Given the description of an element on the screen output the (x, y) to click on. 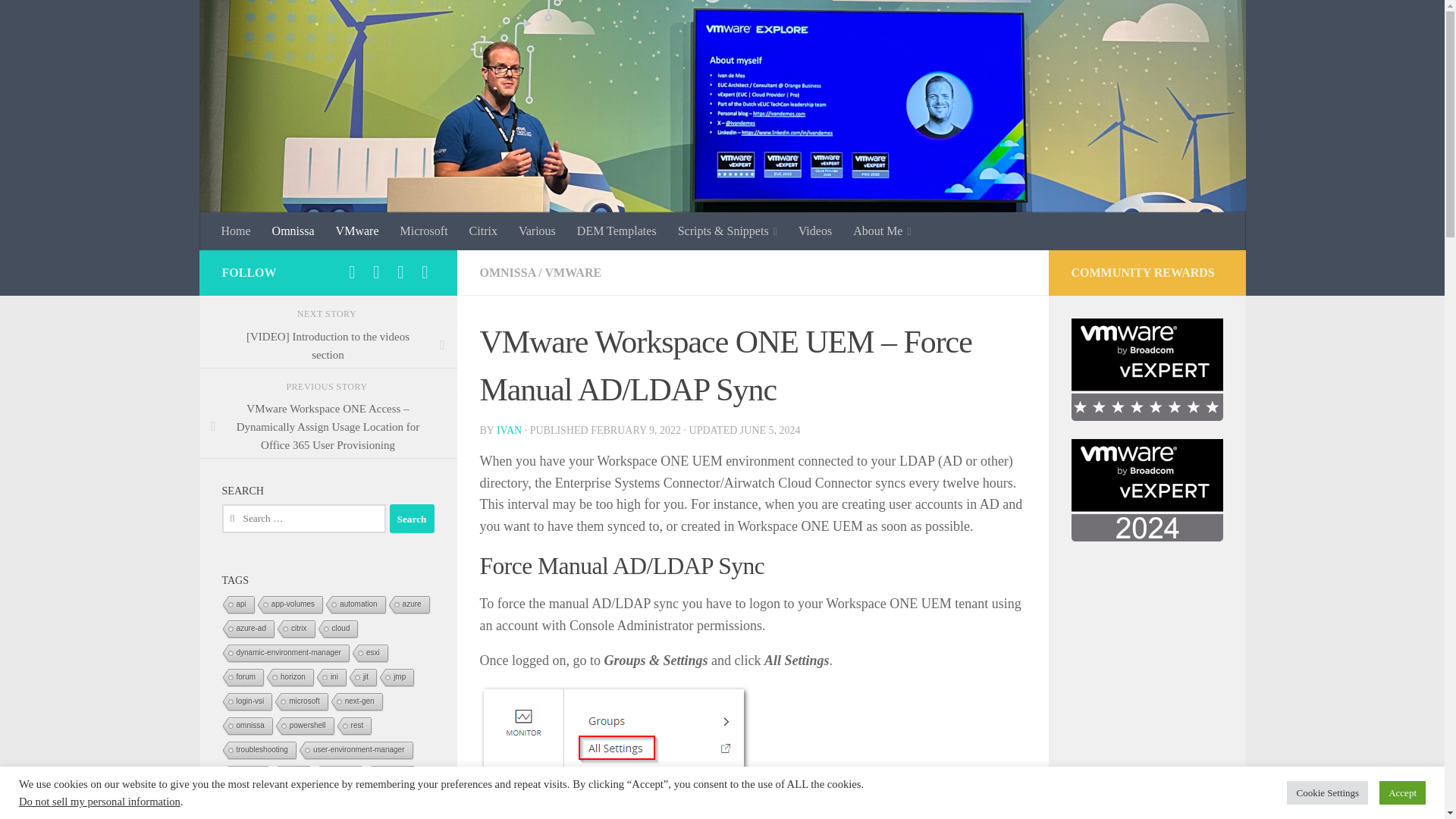
VMware (357, 231)
Search (411, 518)
About Me (882, 231)
Microsoft (423, 231)
OMNISSA (507, 272)
Videos (815, 231)
Posts by Ivan (508, 430)
Search (411, 518)
IVAN (508, 430)
Various (537, 231)
DEM Templates (616, 231)
Skip to content (59, 20)
VMWARE (572, 272)
Follow me on Github (351, 271)
Follow me on Twitter (400, 271)
